Given the description of an element on the screen output the (x, y) to click on. 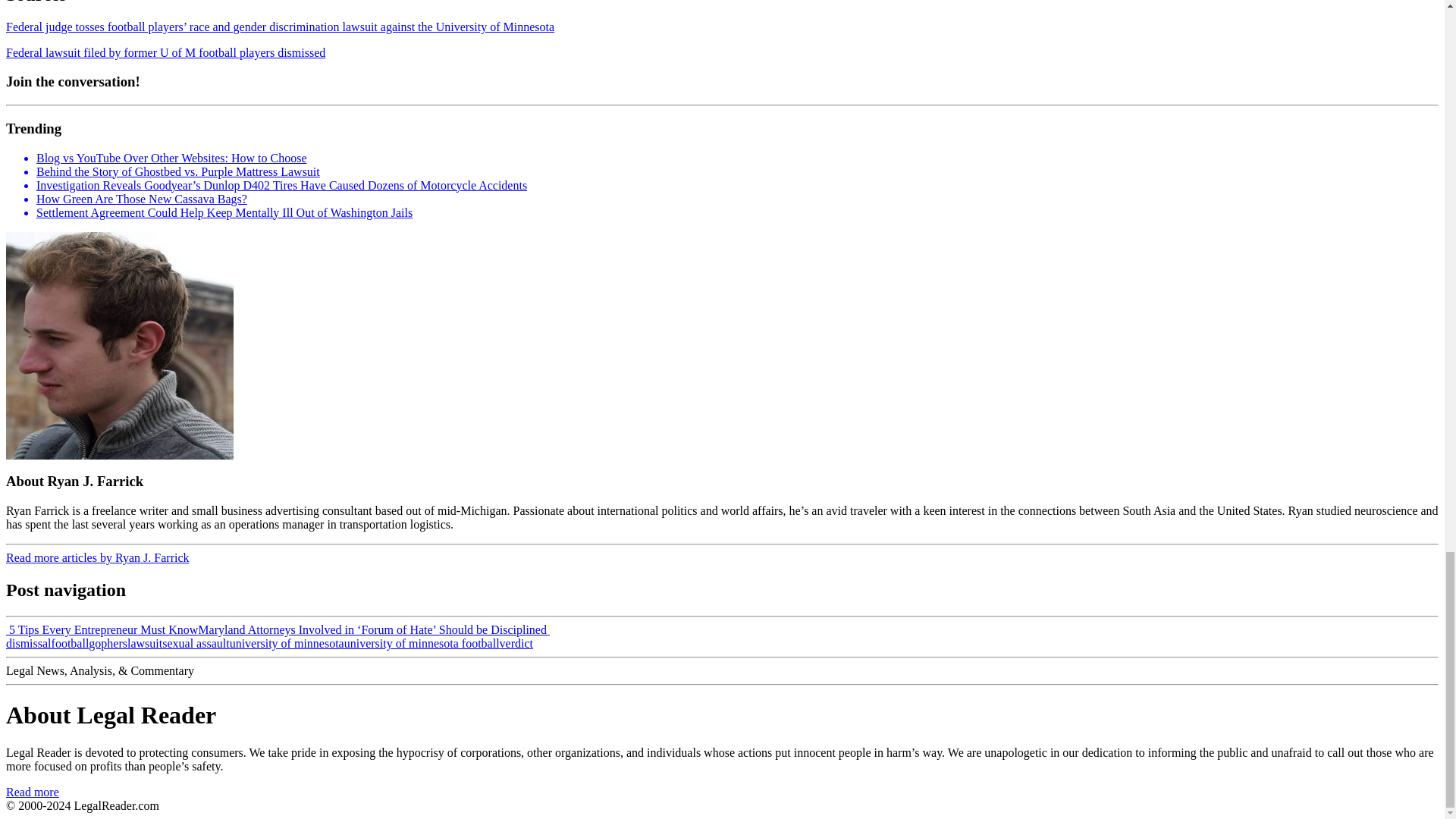
verdict (515, 643)
Read more (32, 791)
 5 Tips Every Entrepreneur Must Know (101, 629)
university of minnesota (286, 643)
university of minnesota football (421, 643)
lawsuit (144, 643)
dismissal (27, 643)
Read more articles by Ryan J. Farrick (97, 557)
gophers (108, 643)
sexual assault (194, 643)
